Given the description of an element on the screen output the (x, y) to click on. 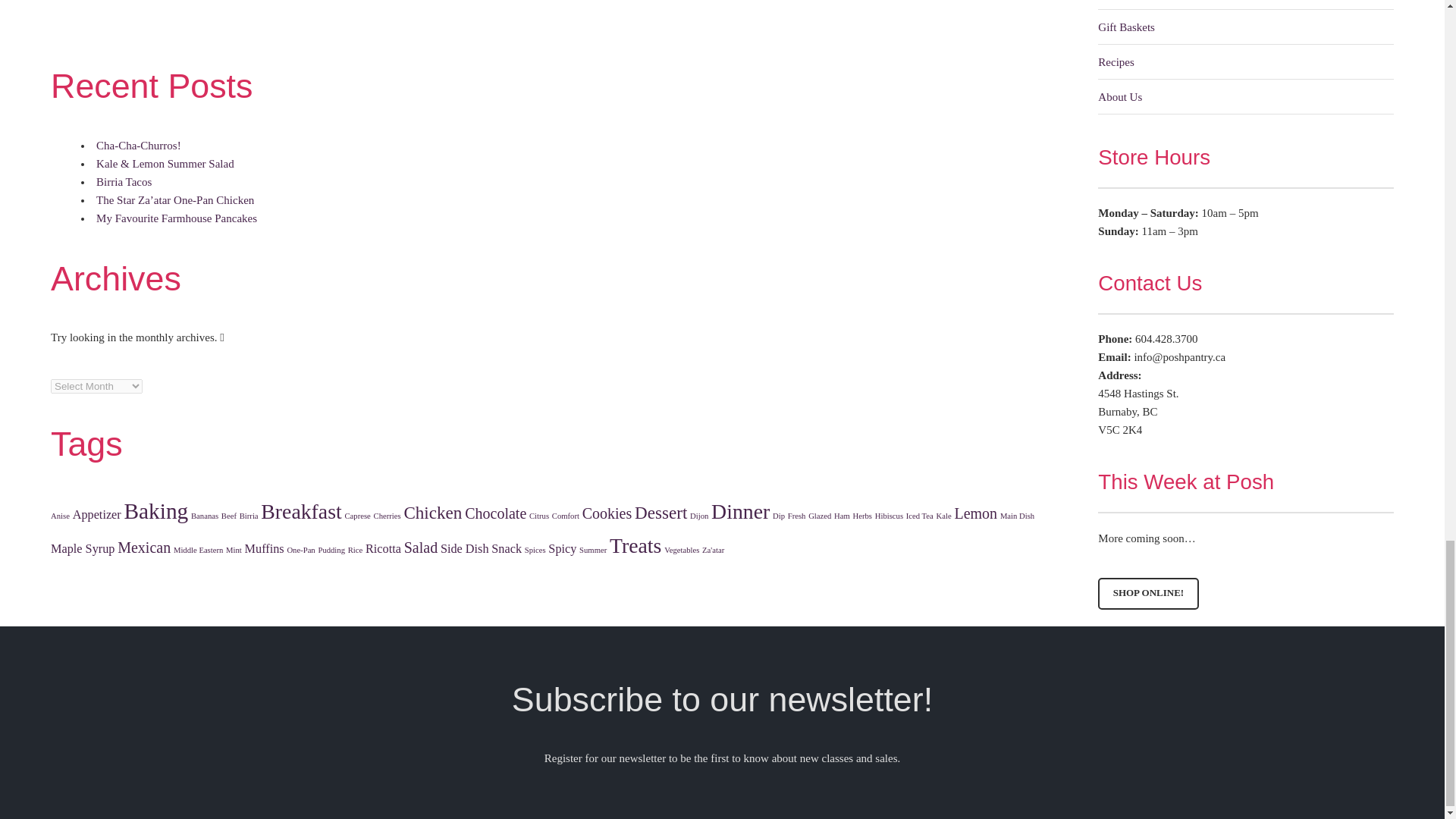
Birria Tacos (123, 182)
Anise (59, 515)
Birria (249, 515)
Comfort (565, 515)
Cookies (606, 513)
Cha-Cha-Churros! (138, 145)
Dijon (698, 515)
My Favourite Farmhouse Pancakes (176, 218)
Chocolate (494, 513)
Dip (778, 515)
